Given the description of an element on the screen output the (x, y) to click on. 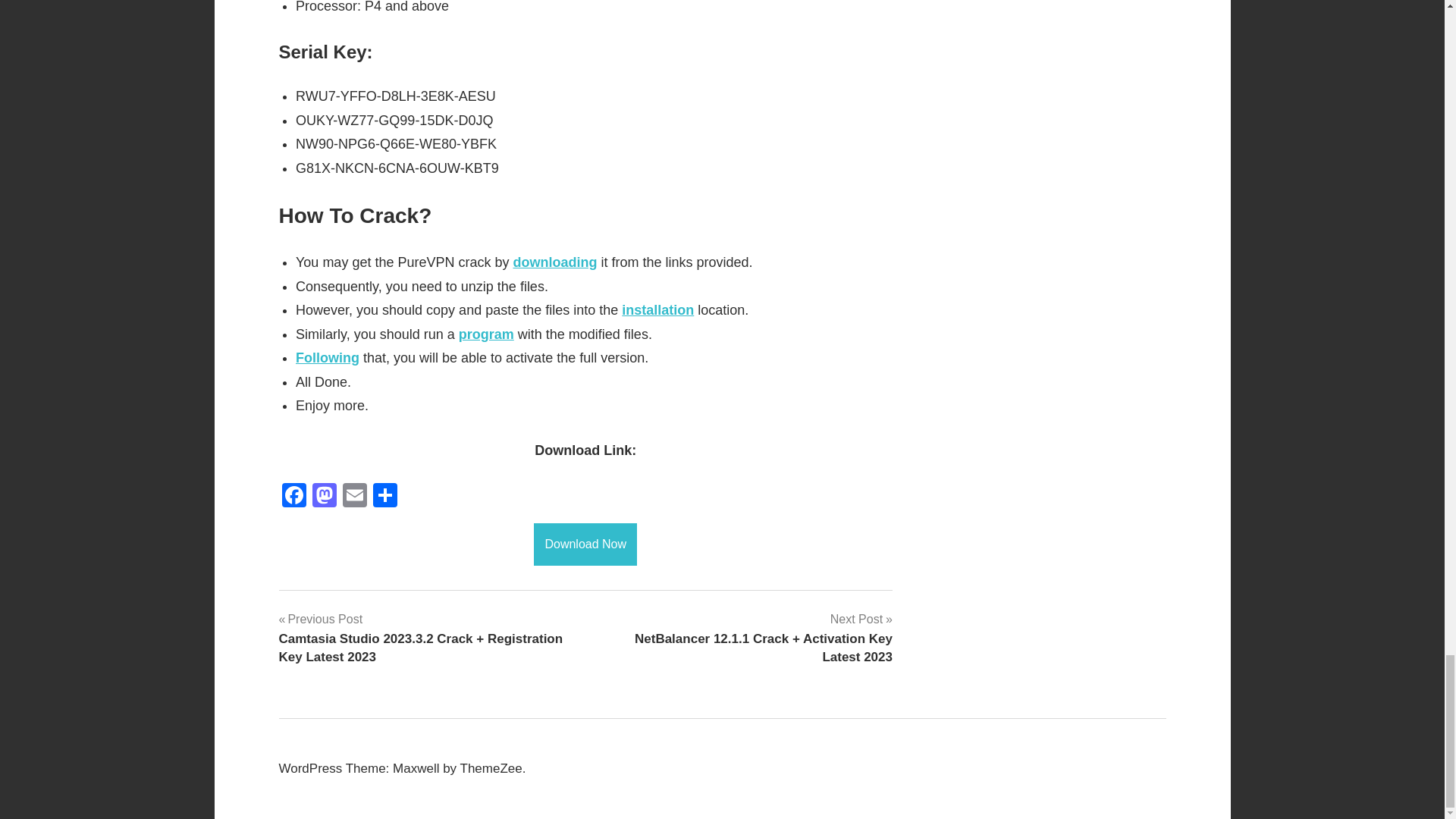
Facebook (293, 497)
Following (327, 357)
downloading (554, 262)
Mastodon (323, 497)
Email (354, 497)
Share (384, 497)
Email (354, 497)
Mastodon (323, 497)
program (485, 334)
Download Now (585, 543)
Facebook (293, 497)
Download Now (585, 544)
installation (657, 309)
